Given the description of an element on the screen output the (x, y) to click on. 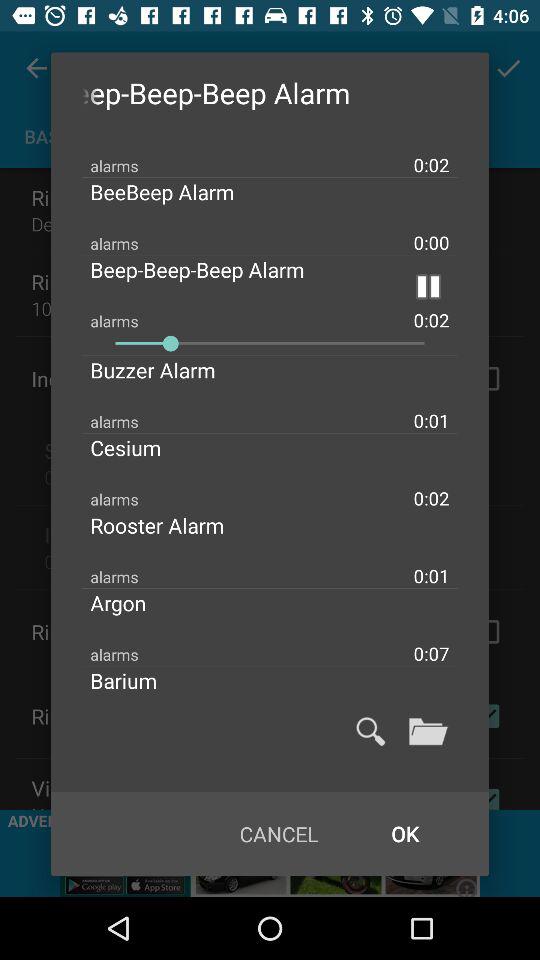
swipe to the rooster alarm item (173, 525)
